Given the description of an element on the screen output the (x, y) to click on. 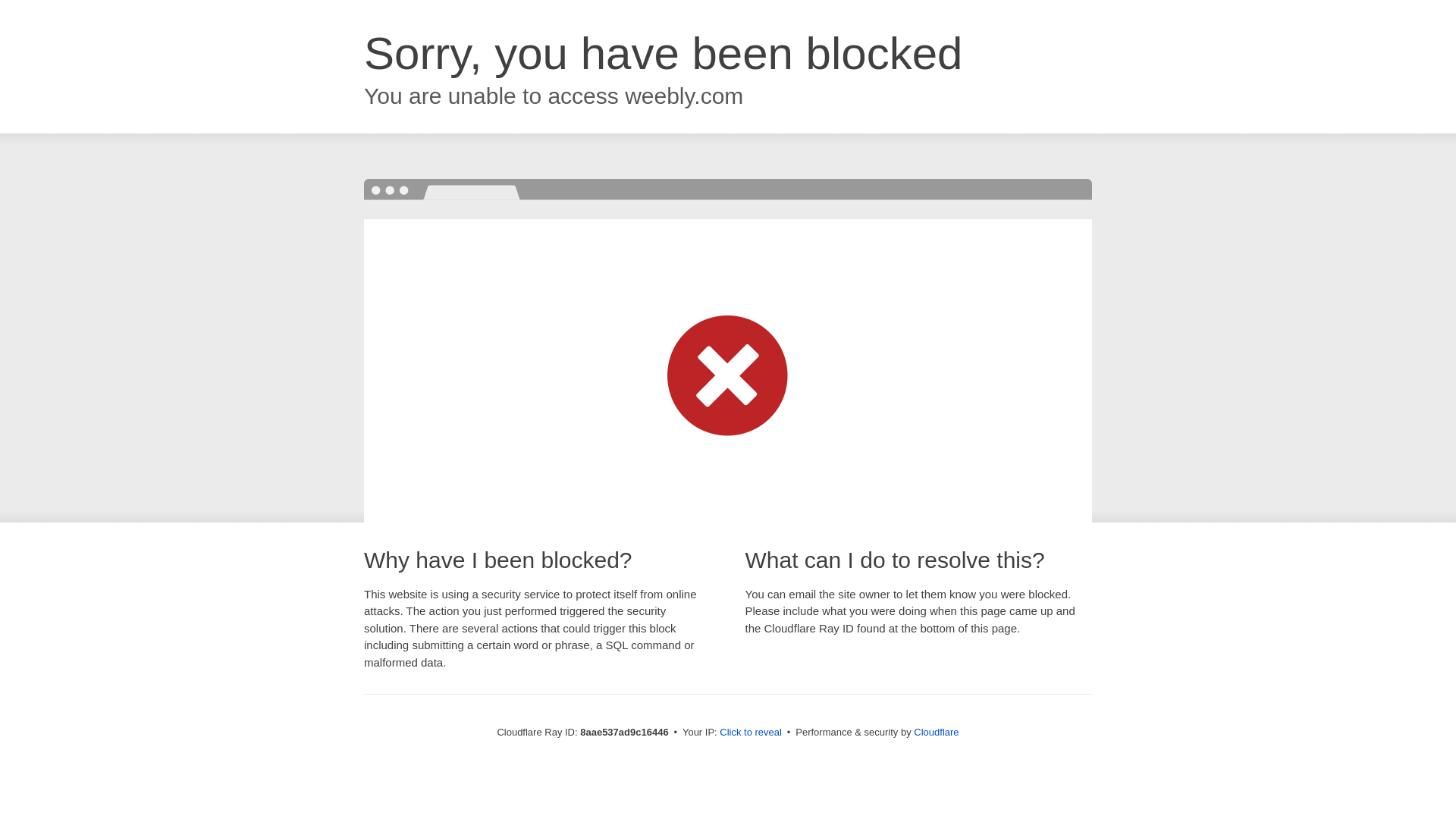
Cloudflare (936, 731)
Click to reveal (750, 732)
